Given the description of an element on the screen output the (x, y) to click on. 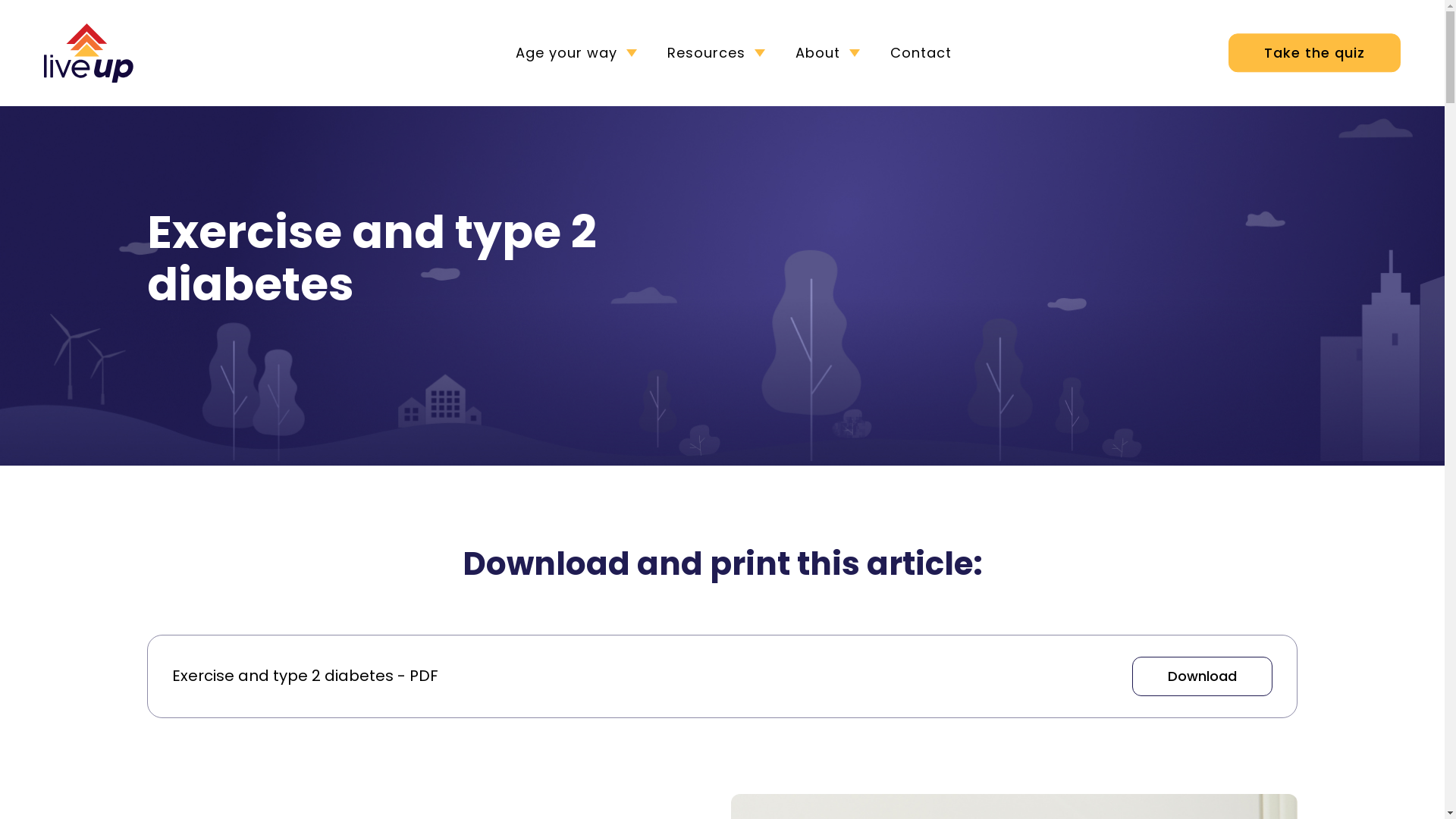
Take the quiz Element type: text (1314, 52)
Age your way Element type: text (579, 52)
About Element type: text (831, 52)
Contact Element type: text (920, 52)
Download Element type: text (1202, 676)
Resources Element type: text (719, 52)
